Given the description of an element on the screen output the (x, y) to click on. 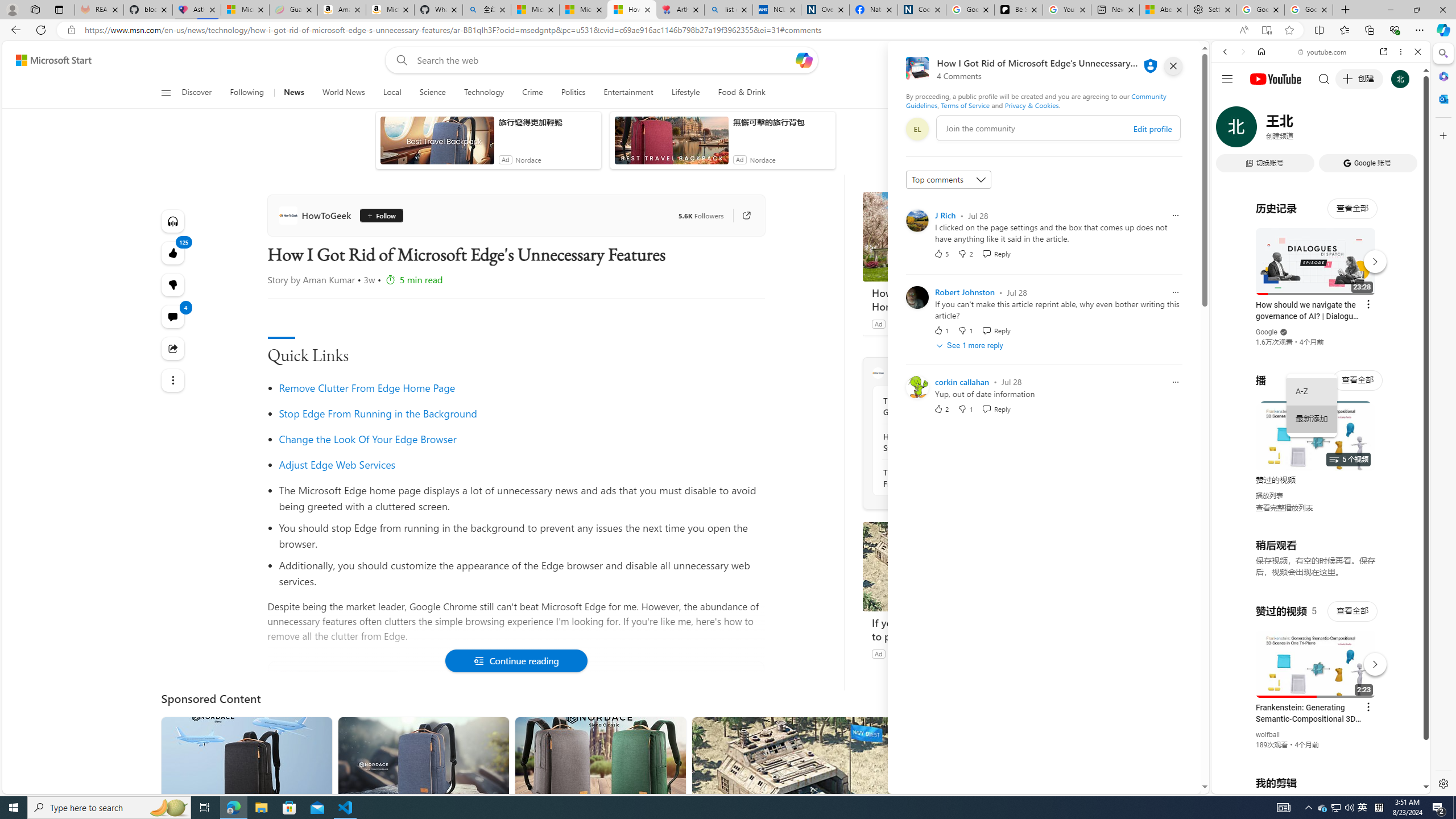
Community Guidelines (1035, 100)
corkin callahan (962, 381)
If you have a mouse, you have to play this game. (947, 628)
Privacy & Cookies (1031, 104)
Class: b_serphb (1404, 130)
comment-box (1058, 127)
YouTube - YouTube (1315, 560)
NCL Adult Asthma Inhaler Choice Guideline (777, 9)
Crime (532, 92)
close (1173, 65)
